Given the description of an element on the screen output the (x, y) to click on. 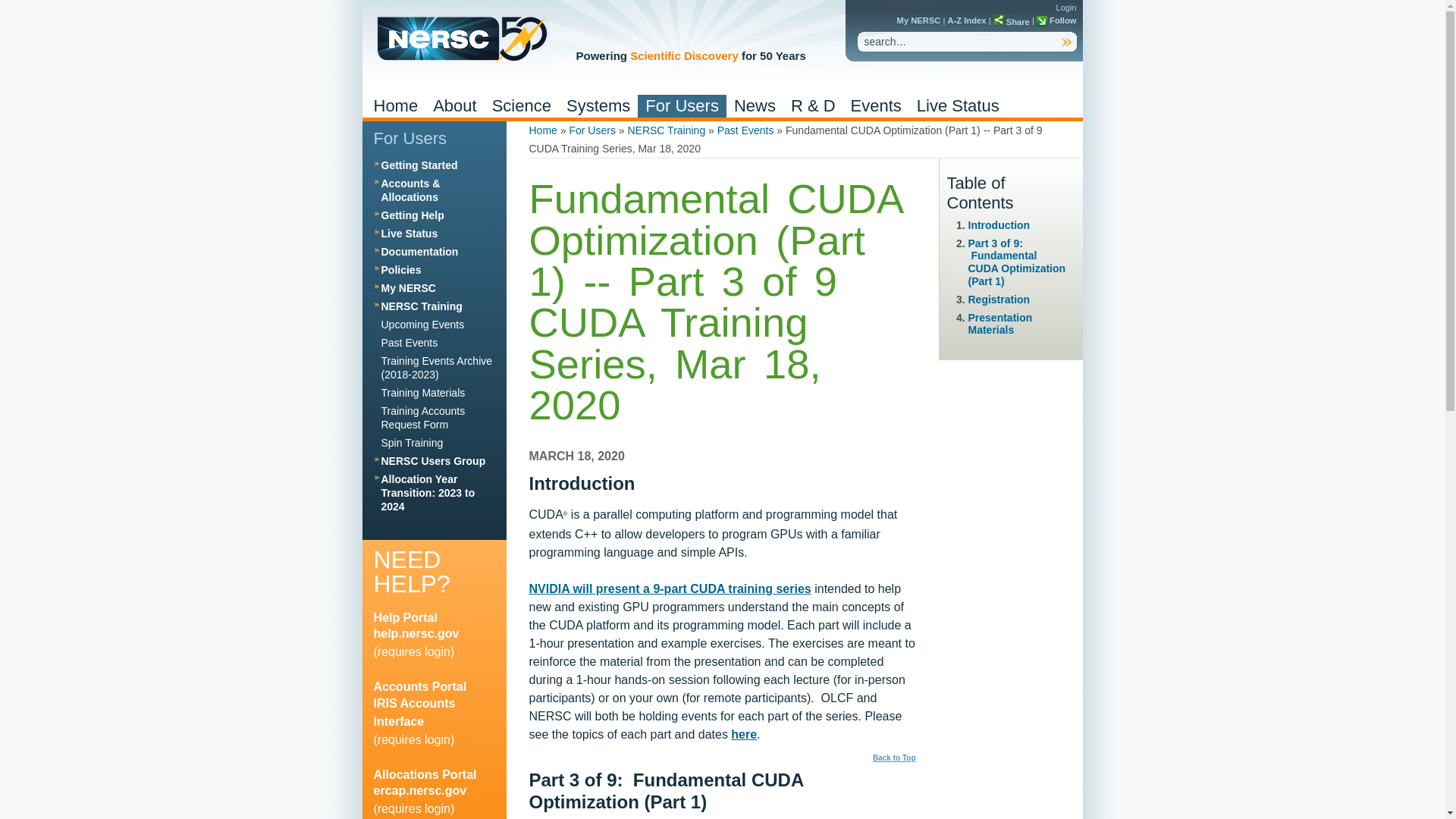
Visit the IRIS Accounts Interface. (418, 686)
Share this page. (1010, 21)
Login (1067, 7)
Allocations Portal (418, 789)
For Users (681, 106)
Home (460, 39)
Go (1066, 41)
About (454, 106)
Go (1066, 41)
IRIS Account Support (413, 712)
Science (521, 106)
Visit the NERSC allocations portal (424, 774)
Share (1010, 21)
Login (1067, 7)
My NERSC (918, 20)
